Given the description of an element on the screen output the (x, y) to click on. 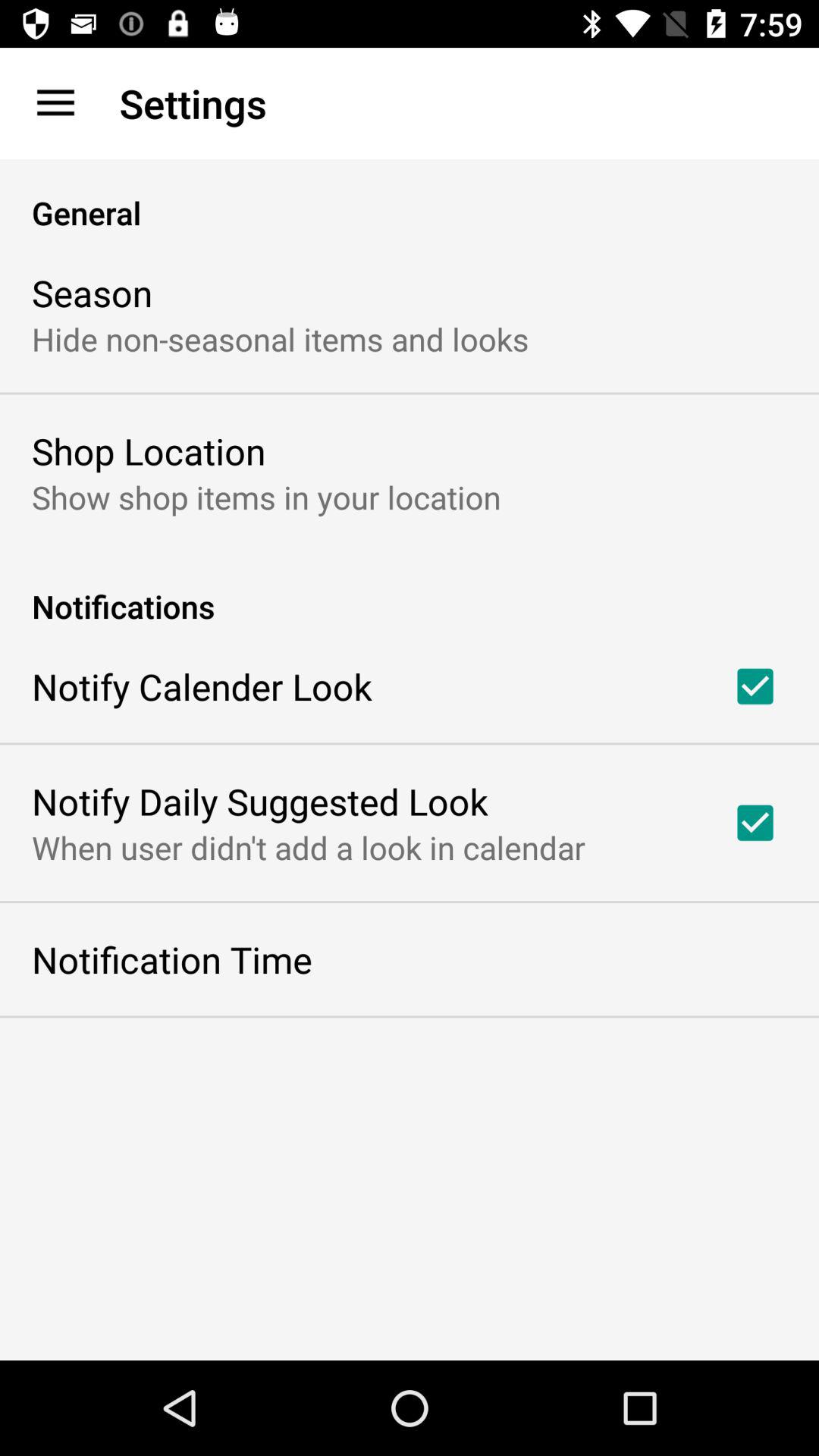
open icon above shop location icon (279, 338)
